Given the description of an element on the screen output the (x, y) to click on. 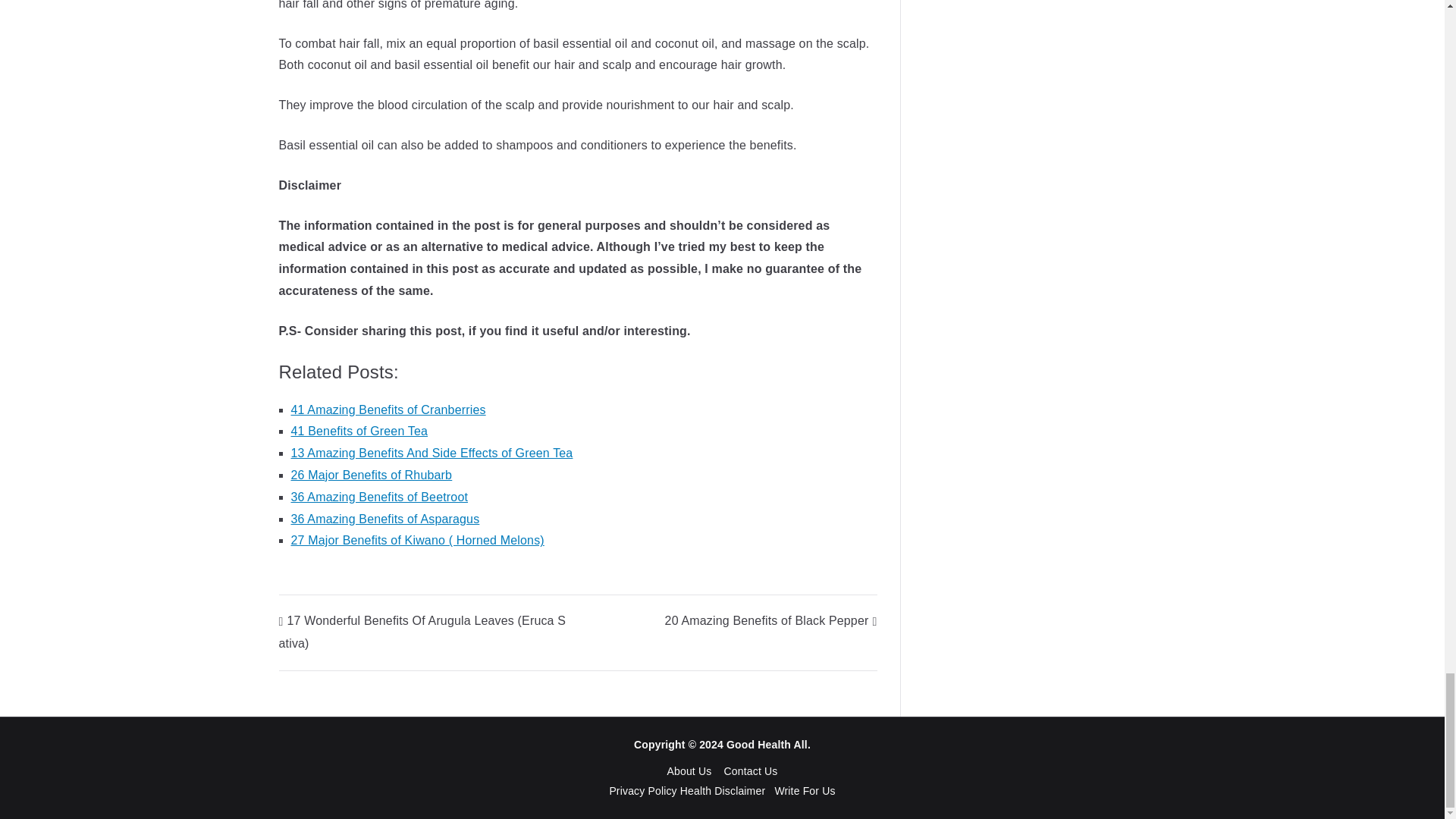
Good Health All (767, 744)
Contact Us (750, 770)
13 Amazing Benefits And Side Effects of Green Tea (432, 452)
41 Benefits of Green Tea (359, 431)
36 Amazing Benefits of Asparagus (385, 518)
About Us (688, 770)
41 Amazing Benefits of Cranberries (388, 409)
Health Disclaimer (722, 790)
36 Amazing Benefits of Beetroot (379, 496)
Privacy Policy (643, 790)
